Given the description of an element on the screen output the (x, y) to click on. 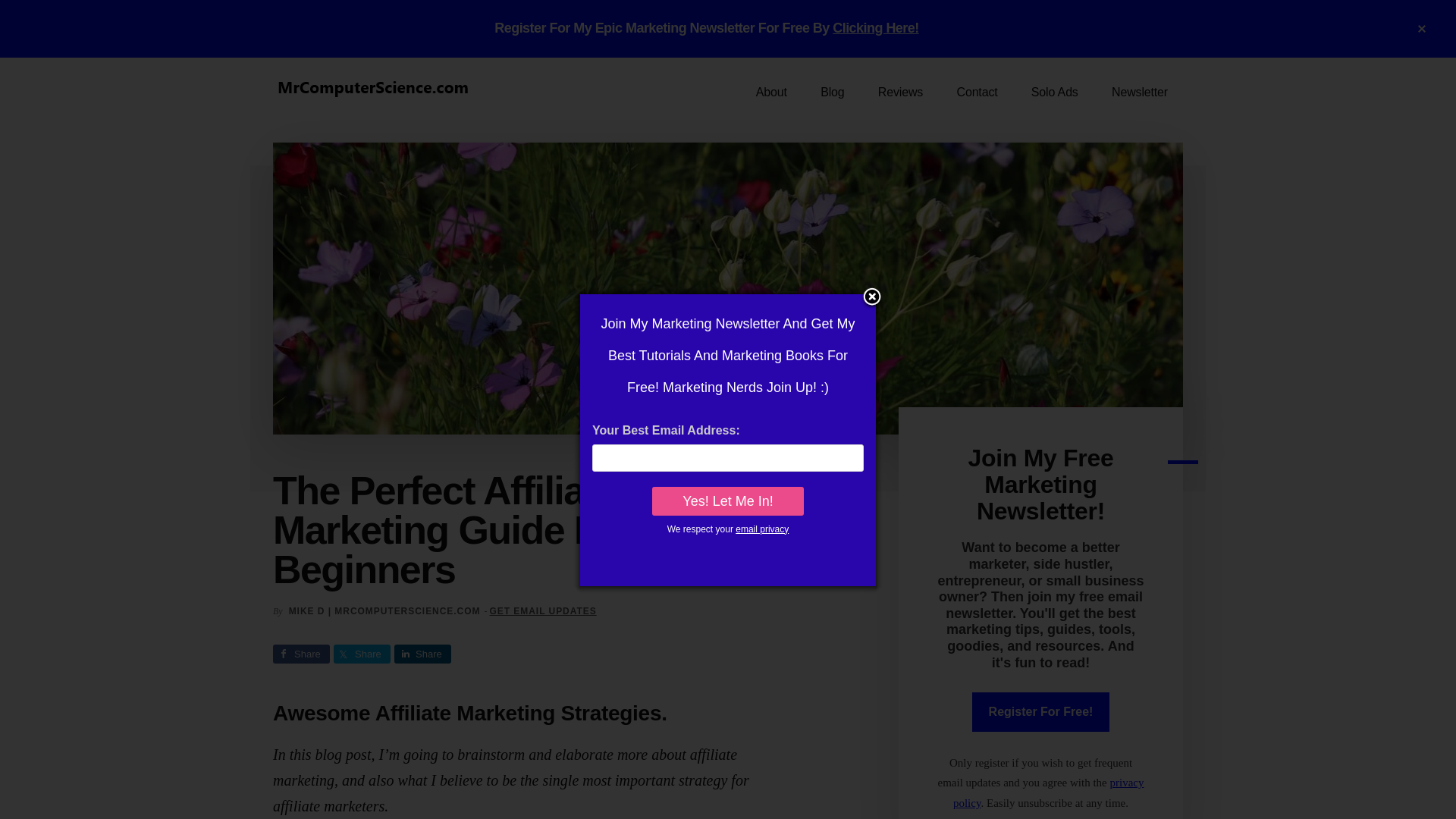
The Massive Solo Ad Rolodex (1054, 92)
Awesome Marketing And Software Reviews (900, 92)
Blog (832, 92)
Clicking Here! (875, 28)
Newsletter (1139, 92)
Share (361, 653)
Share (422, 653)
Reviews (900, 92)
About (771, 92)
Solo Ads (1054, 92)
Awesome Marketing Blog (832, 92)
GET EMAIL UPDATES (542, 611)
Share (301, 653)
Contact Me (977, 92)
